Given the description of an element on the screen output the (x, y) to click on. 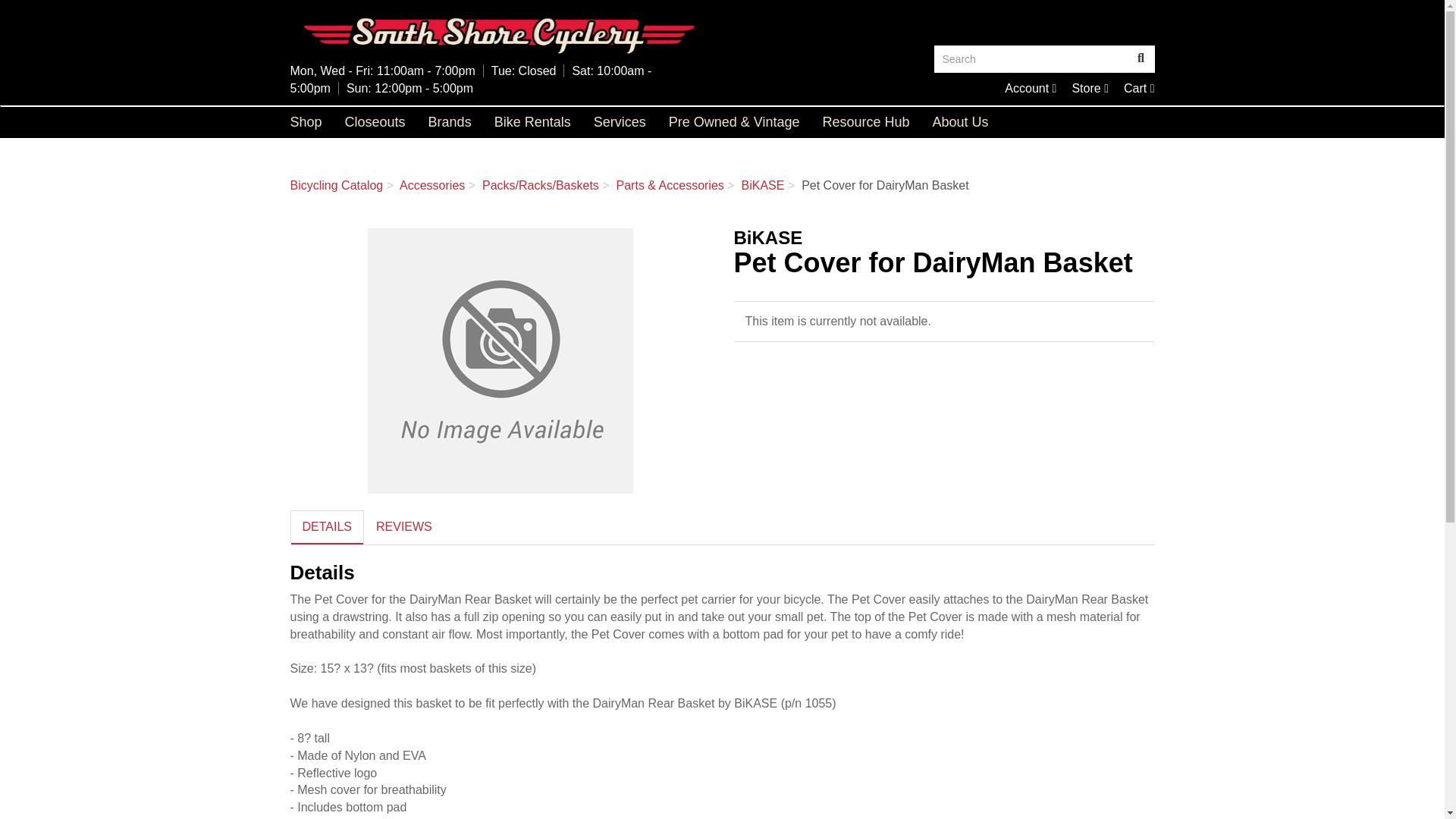
Cart (1030, 88)
Search (1139, 88)
Store (1031, 58)
Search (1089, 88)
Shop (1139, 88)
South Shore Cyclery Home Page (1140, 58)
Account (306, 122)
